Given the description of an element on the screen output the (x, y) to click on. 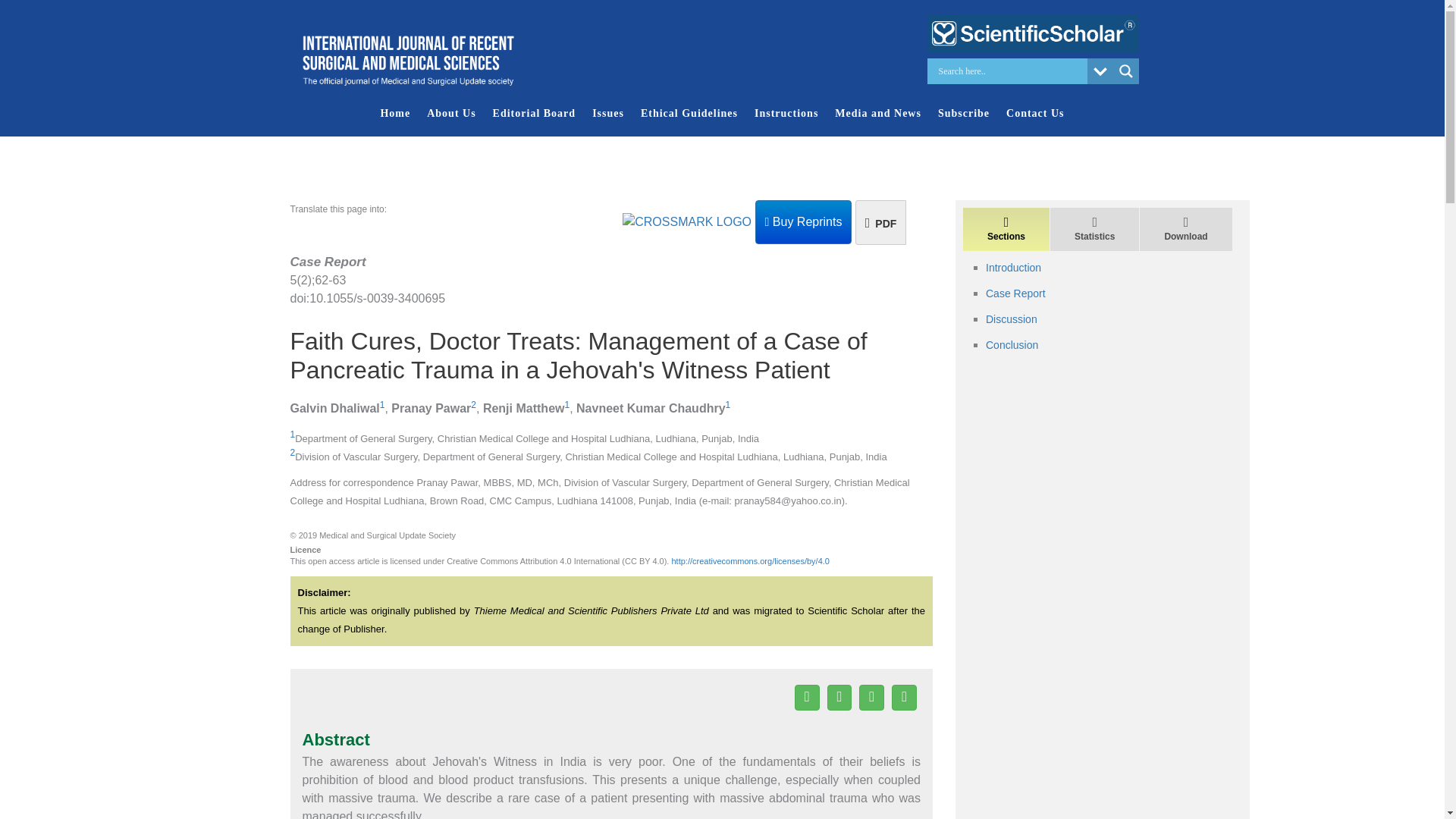
Issues (607, 113)
Media and News (878, 113)
Contact Us (1035, 113)
Subscribe (963, 113)
Home (395, 113)
Editorial Board (534, 113)
